Given the description of an element on the screen output the (x, y) to click on. 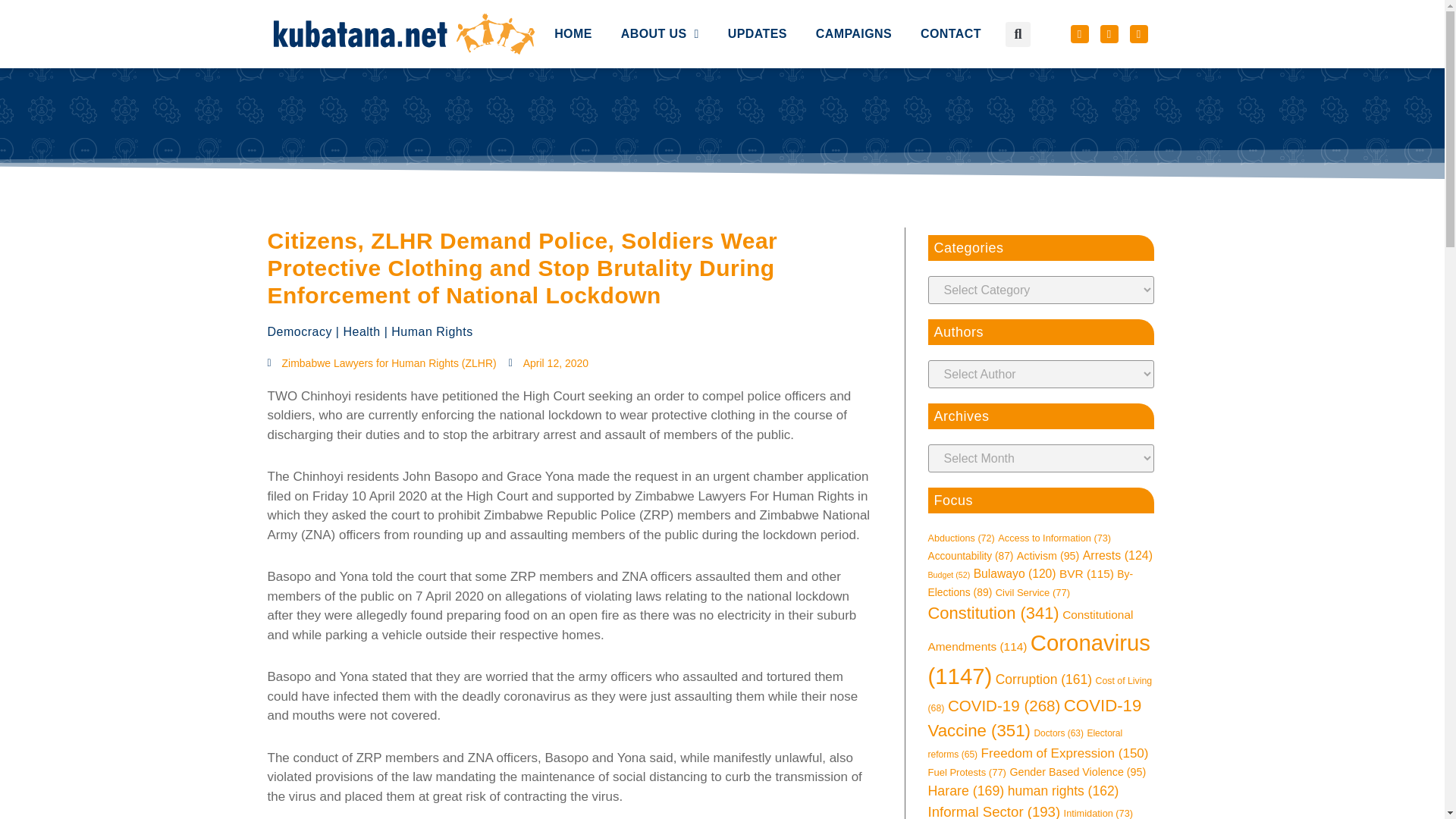
CONTACT (950, 2)
Human Rights (431, 331)
Health (361, 331)
Democracy (298, 331)
CAMPAIGNS (853, 2)
